Given the description of an element on the screen output the (x, y) to click on. 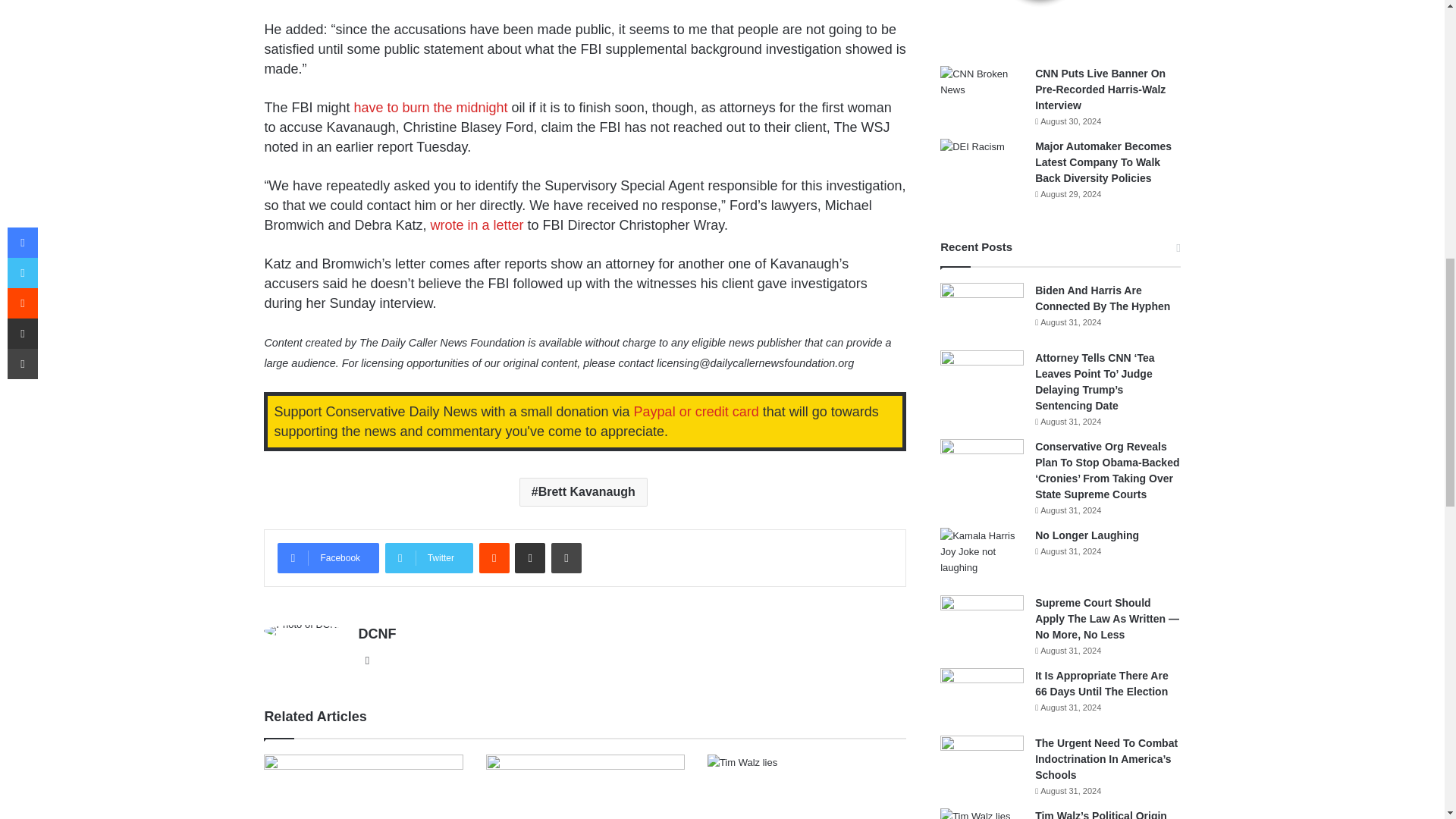
Facebook (328, 557)
Reddit (494, 557)
Twitter (429, 557)
